Given the description of an element on the screen output the (x, y) to click on. 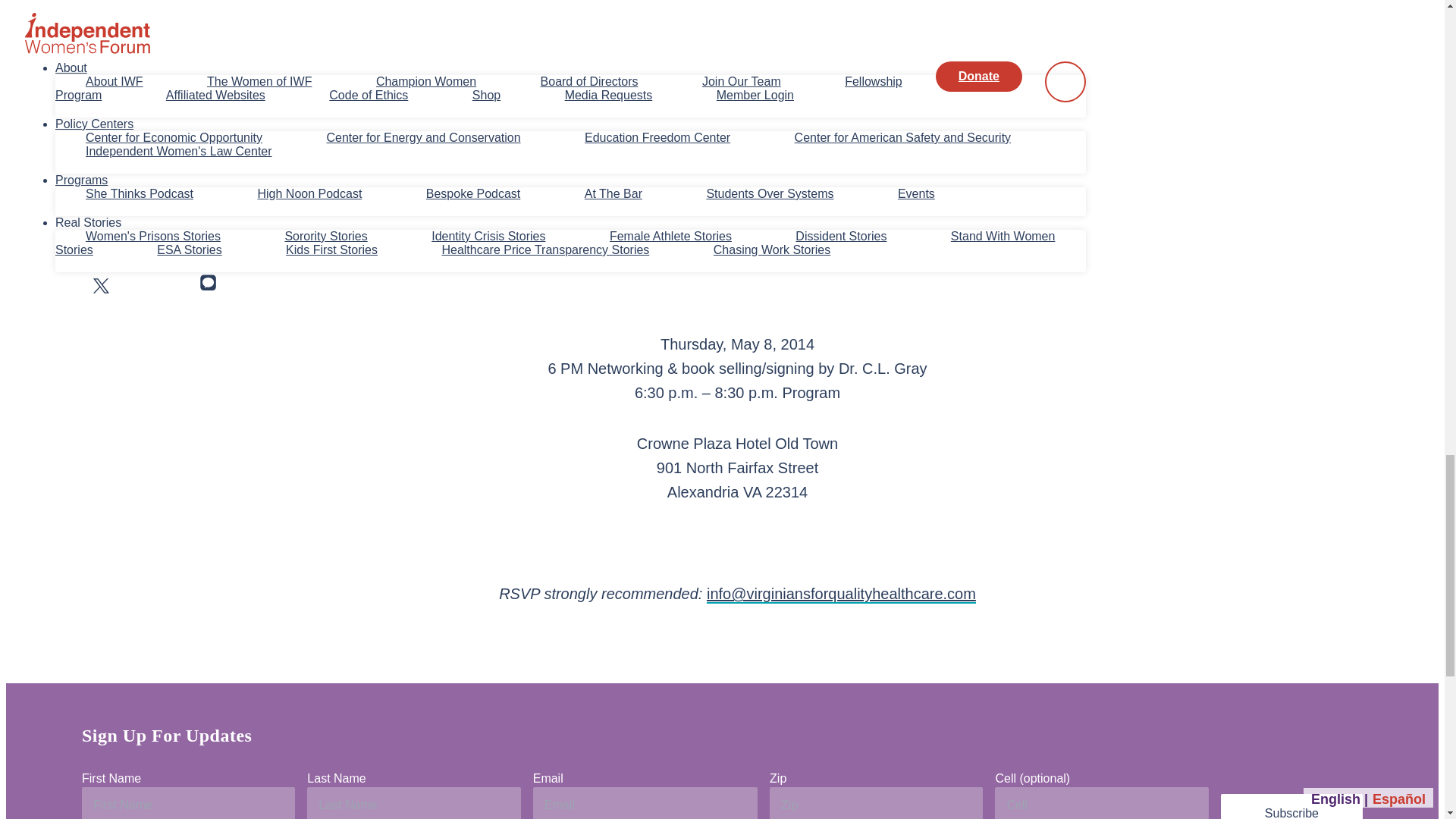
Subscribe (1291, 806)
